Given the description of an element on the screen output the (x, y) to click on. 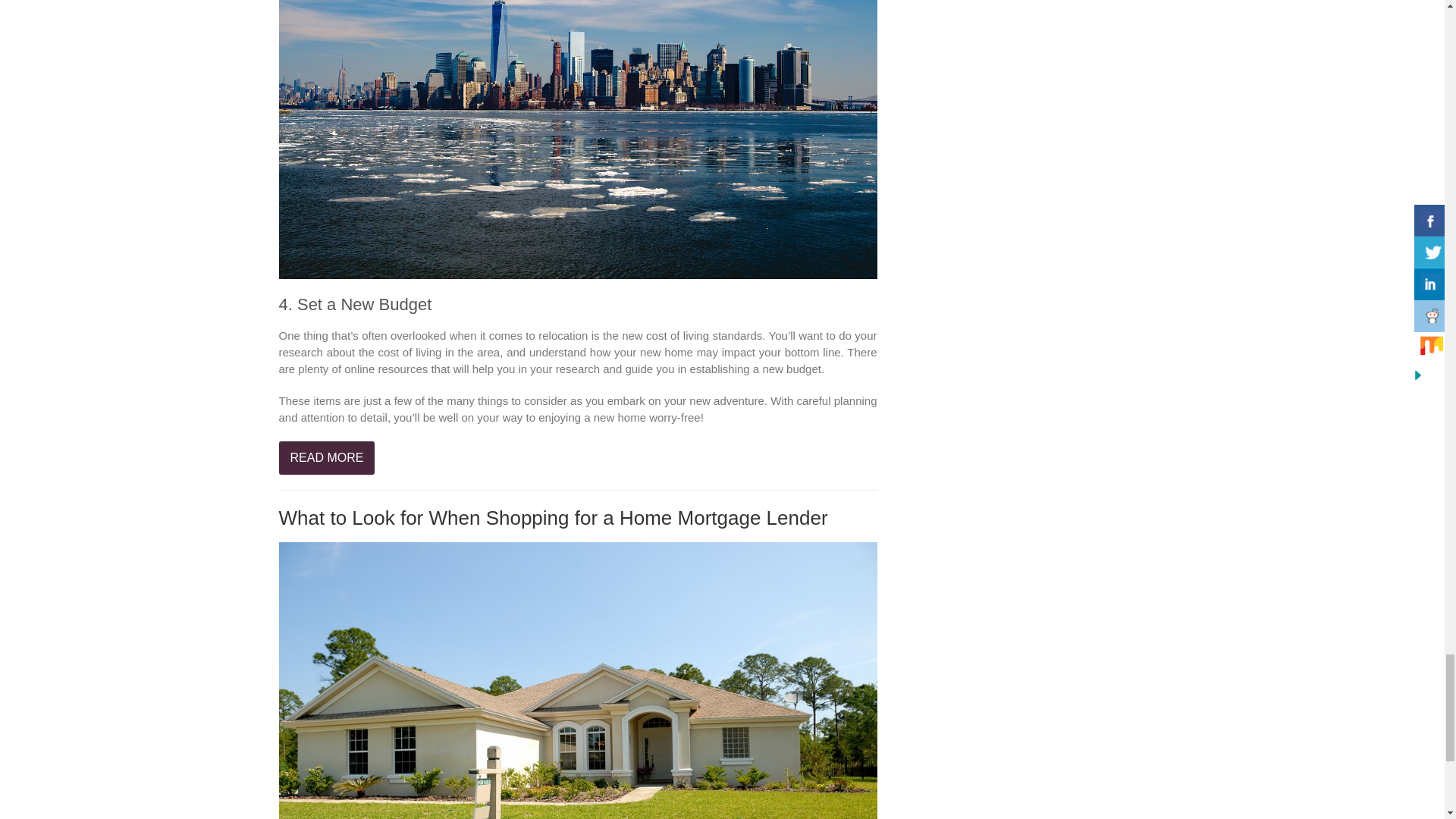
cost of living standards (703, 335)
READ MORE (327, 458)
